Given the description of an element on the screen output the (x, y) to click on. 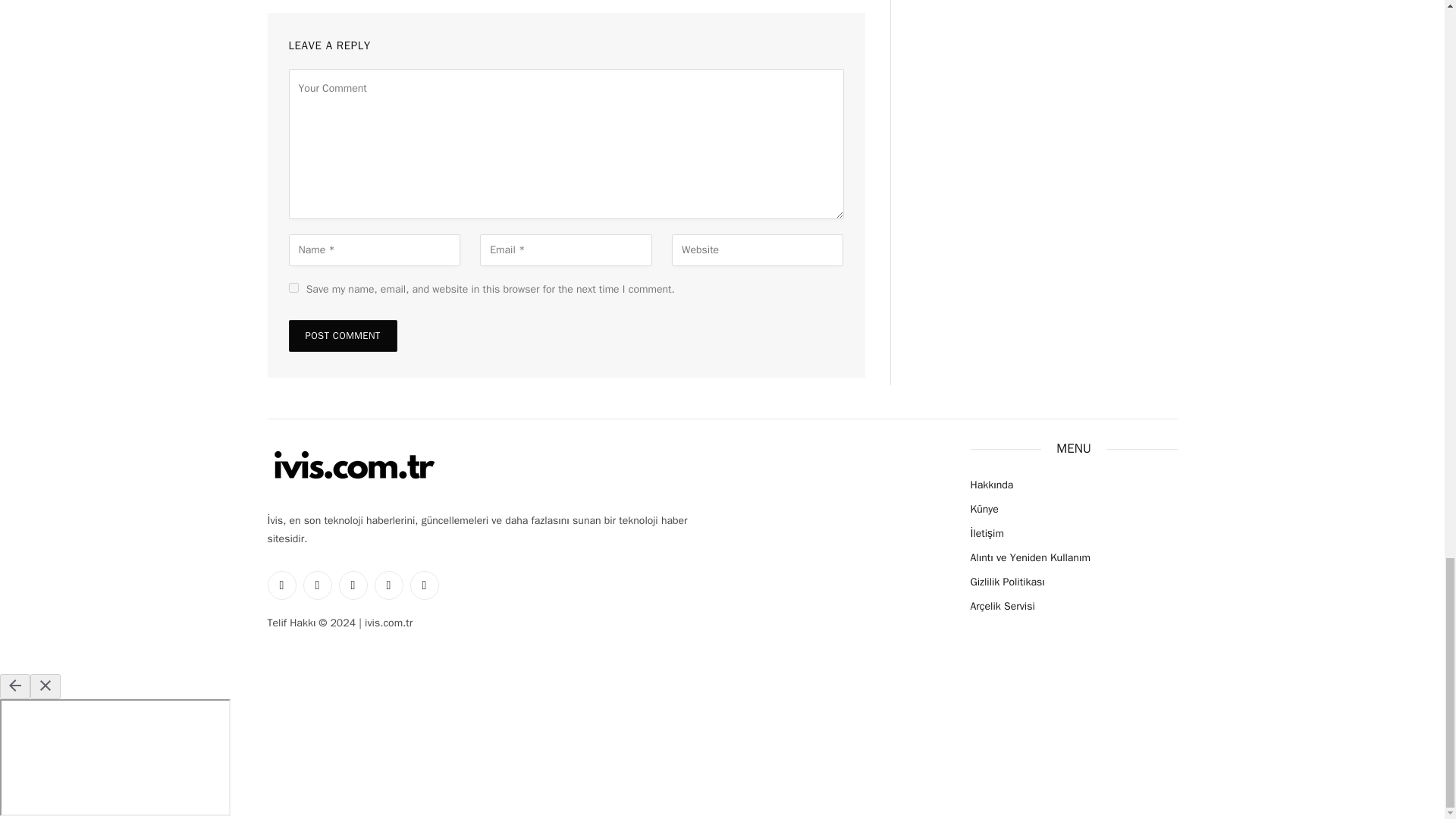
Post Comment (342, 336)
yes (293, 287)
